Given the description of an element on the screen output the (x, y) to click on. 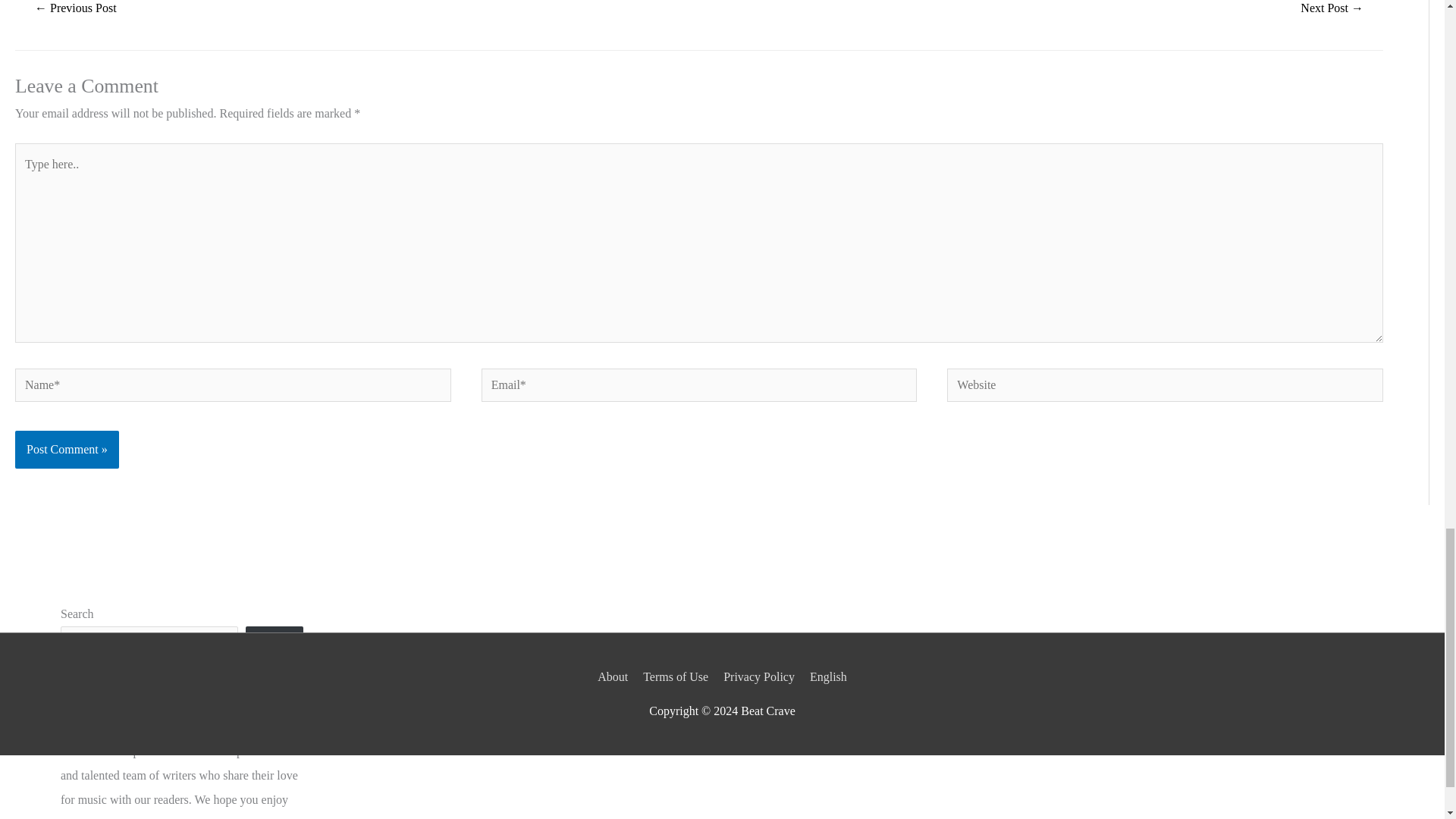
Privacy Policy (758, 676)
About (614, 676)
Terms of Use (675, 676)
English (825, 676)
Melanie B Facts (75, 11)
Search (274, 646)
Dr. Know Facts (1331, 11)
